Given the description of an element on the screen output the (x, y) to click on. 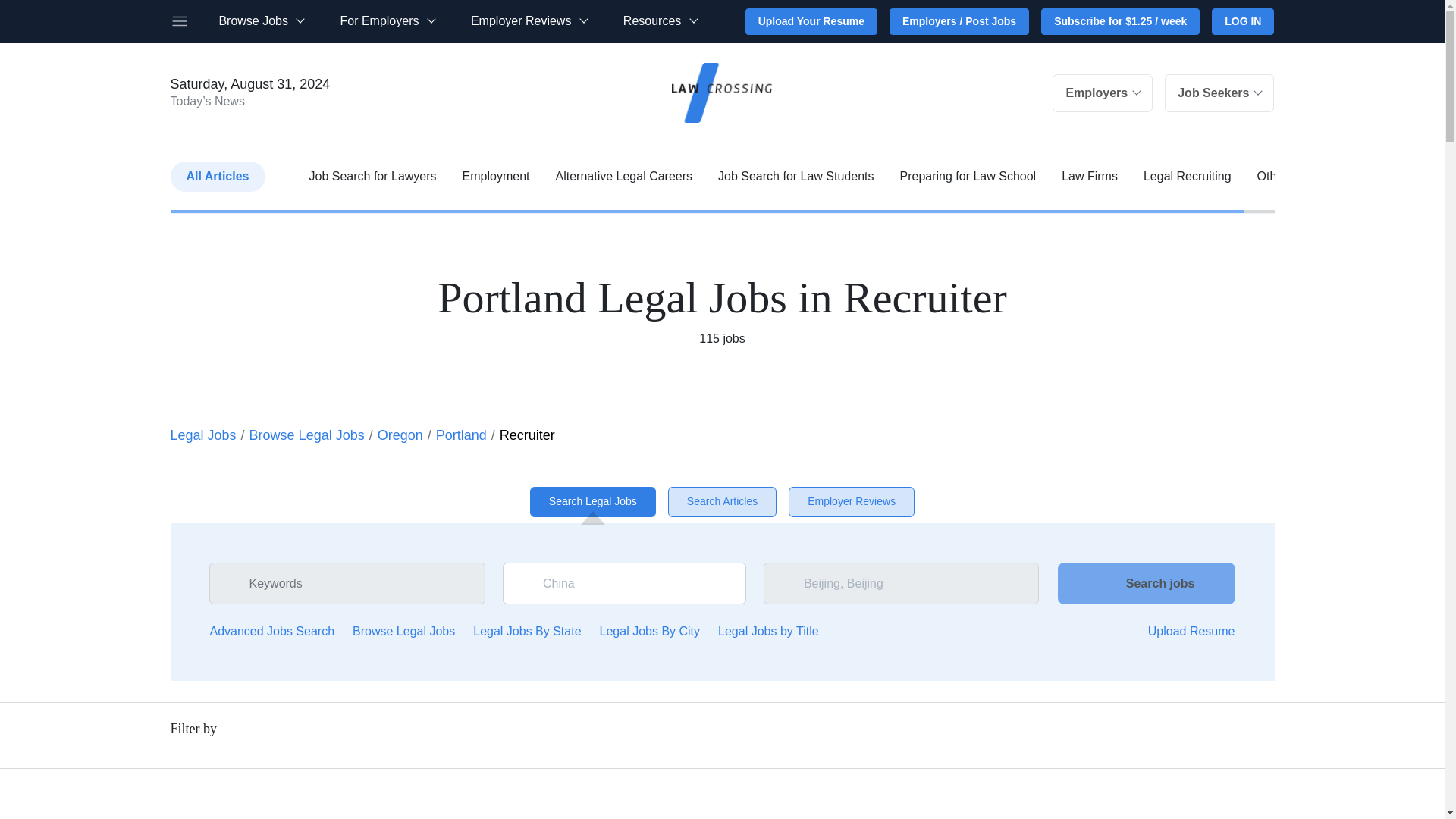
LOG IN (1242, 22)
Browse Jobs (260, 20)
Employer Reviews (528, 20)
Resources (660, 20)
For Employers (386, 20)
Upload Your Resume (811, 22)
Job Seekers (1219, 93)
Employers (1102, 93)
Beijing, Beijing (900, 583)
